Given the description of an element on the screen output the (x, y) to click on. 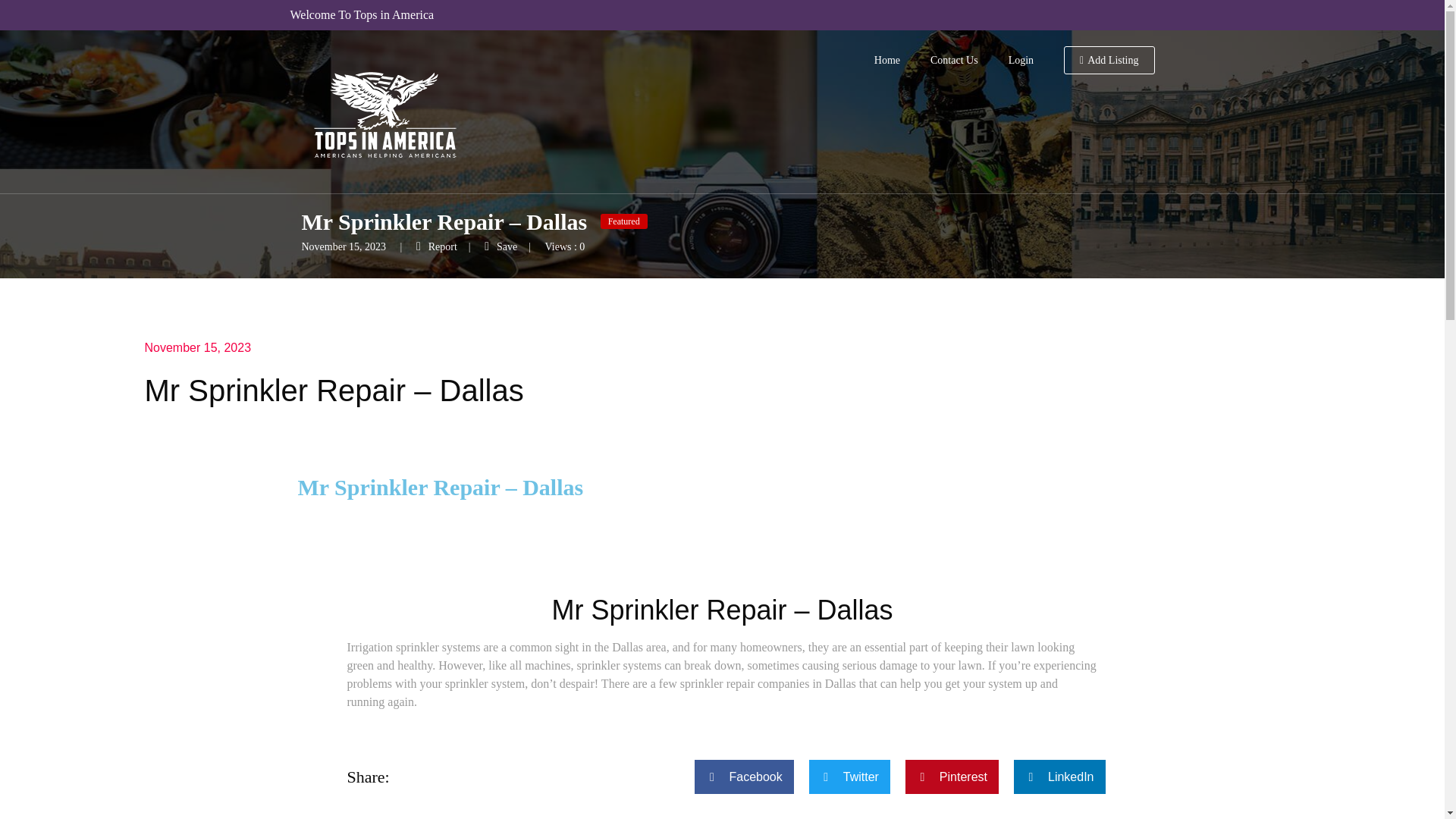
Save (500, 246)
Views : 0 (564, 246)
Home (887, 60)
November 15, 2023 (197, 347)
Contact Us (953, 60)
Report (436, 246)
Login (1021, 60)
Add Listing (1108, 60)
